Given the description of an element on the screen output the (x, y) to click on. 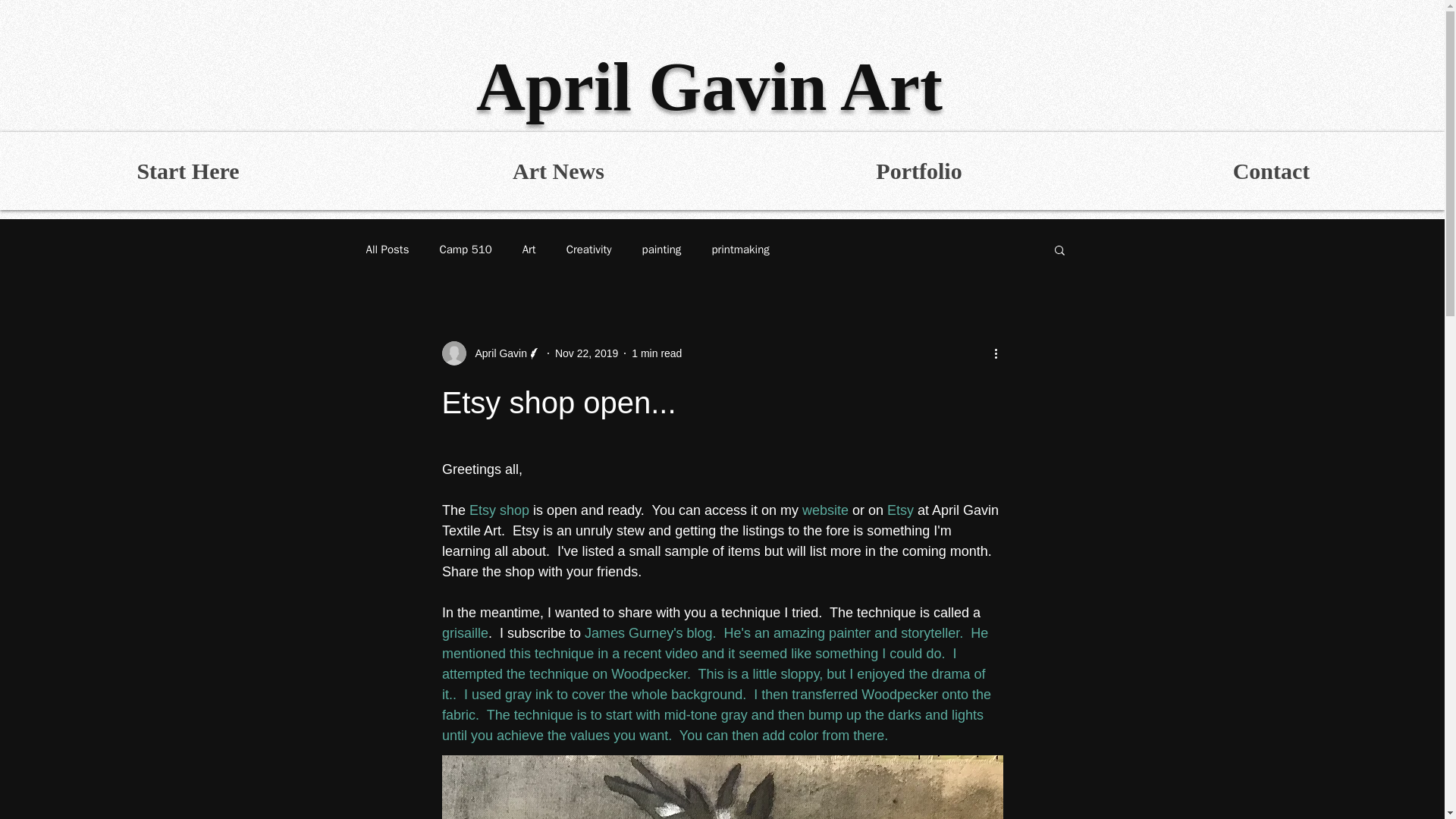
grisaille (464, 632)
printmaking (739, 249)
Creativity (588, 249)
Art (528, 249)
website (824, 509)
Start Here (187, 170)
All Posts (387, 249)
April Gavin (495, 353)
Camp 510 (465, 249)
Portfolio (918, 170)
Etsy shop (498, 509)
James Gurney's (633, 632)
Art News (557, 170)
painting (661, 249)
